Given the description of an element on the screen output the (x, y) to click on. 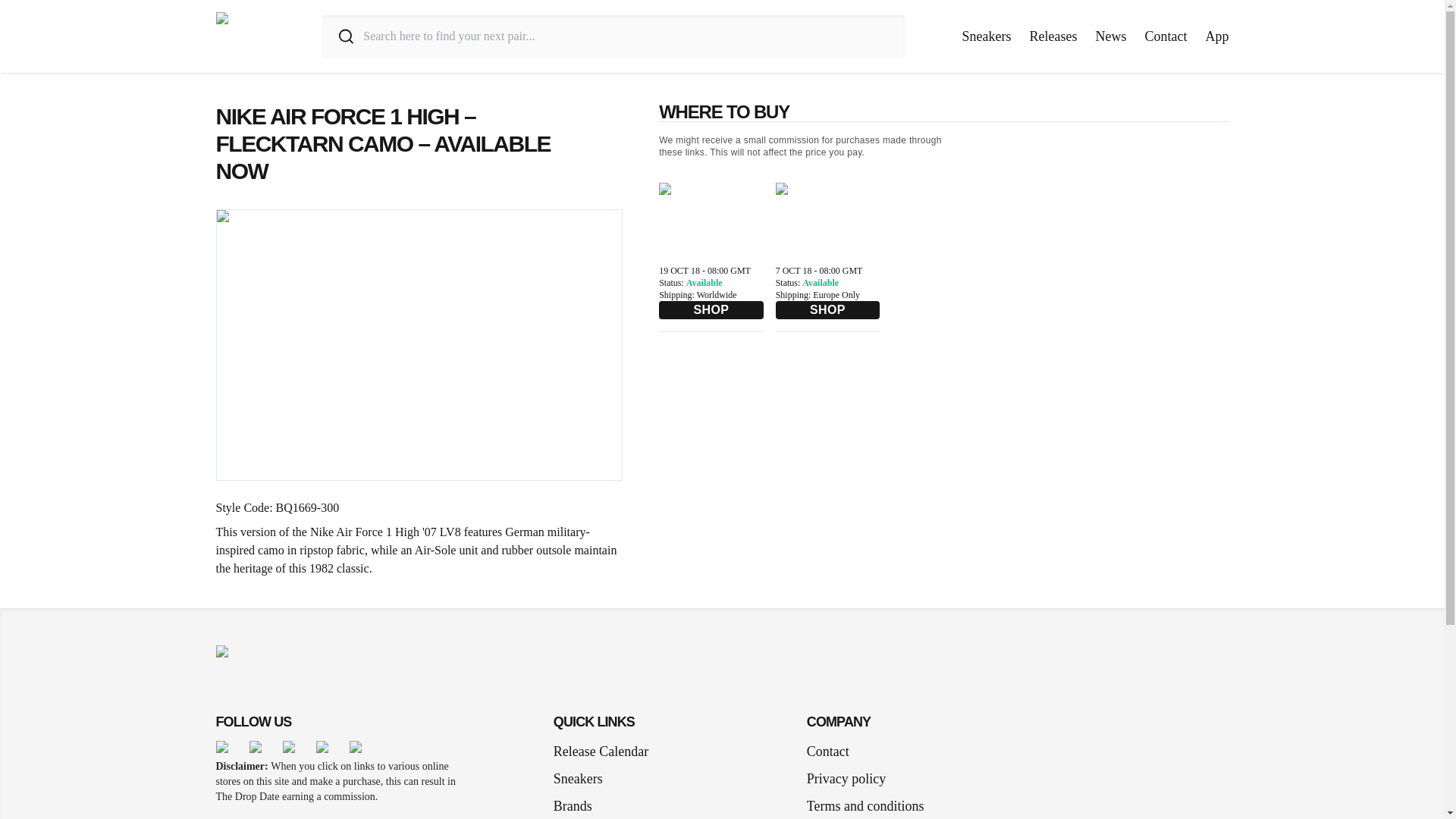
Sneakers (986, 36)
Contact (1166, 36)
Models (580, 816)
Contact (827, 751)
News (1109, 36)
Terms and conditions (865, 802)
App (1216, 36)
Release Calendar (600, 751)
Sneakers (583, 778)
Releases (1053, 36)
Brands (578, 802)
Privacy policy (845, 778)
